Given the description of an element on the screen output the (x, y) to click on. 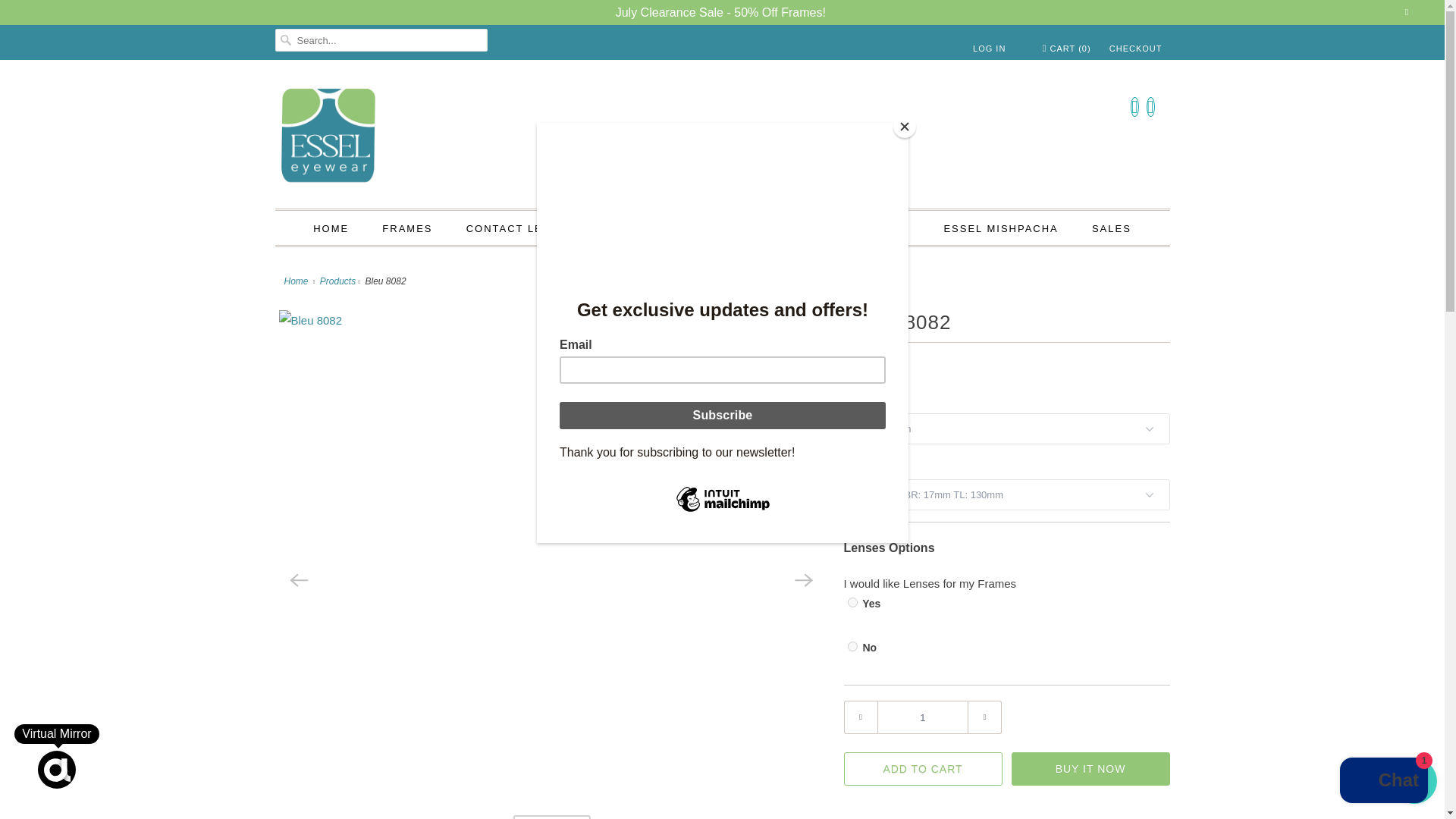
CONTACT LENSES (520, 228)
CONTACT US (870, 228)
Shopify online store chat (1383, 781)
TRY ON (550, 816)
Essel Eyewear NY (722, 137)
Yes (852, 602)
No (852, 646)
1 (922, 717)
BUY IT NOW (1090, 768)
HOME (331, 228)
WHOLESALE (646, 228)
Essel Eyewear NY (298, 281)
Products (337, 281)
CHECKOUT (1135, 47)
